Given the description of an element on the screen output the (x, y) to click on. 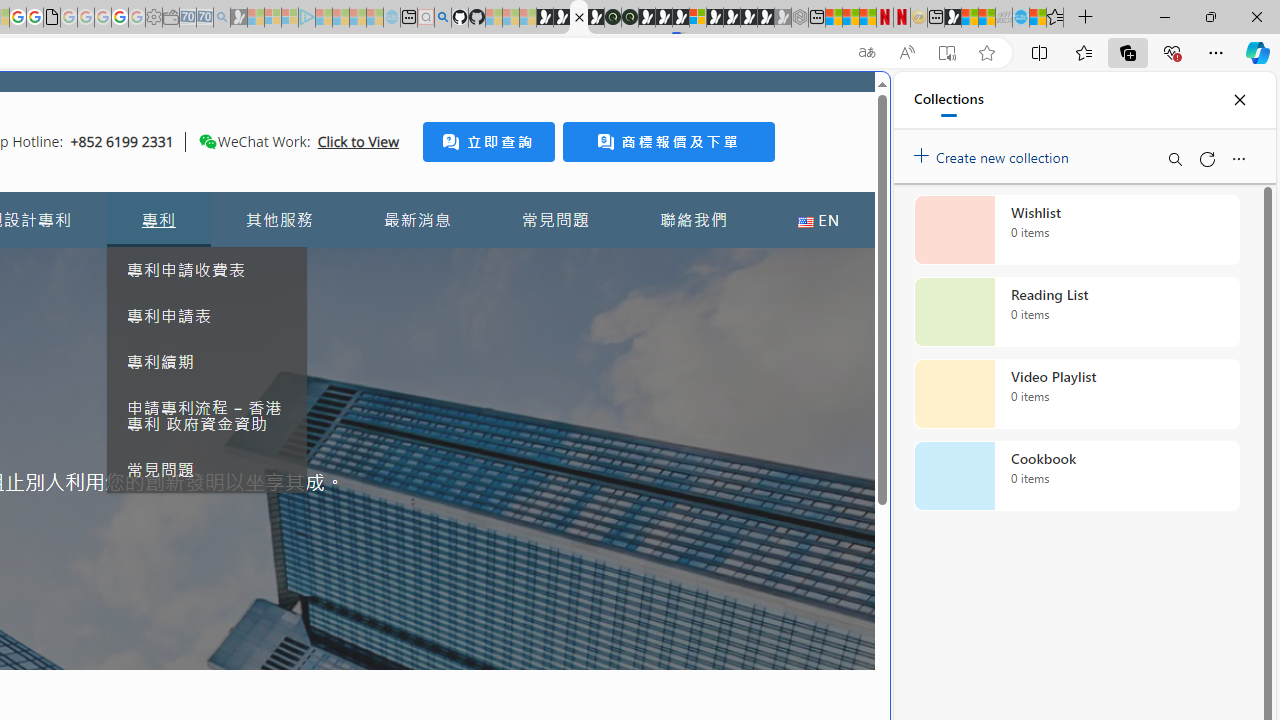
Close split screen (844, 102)
